Given the description of an element on the screen output the (x, y) to click on. 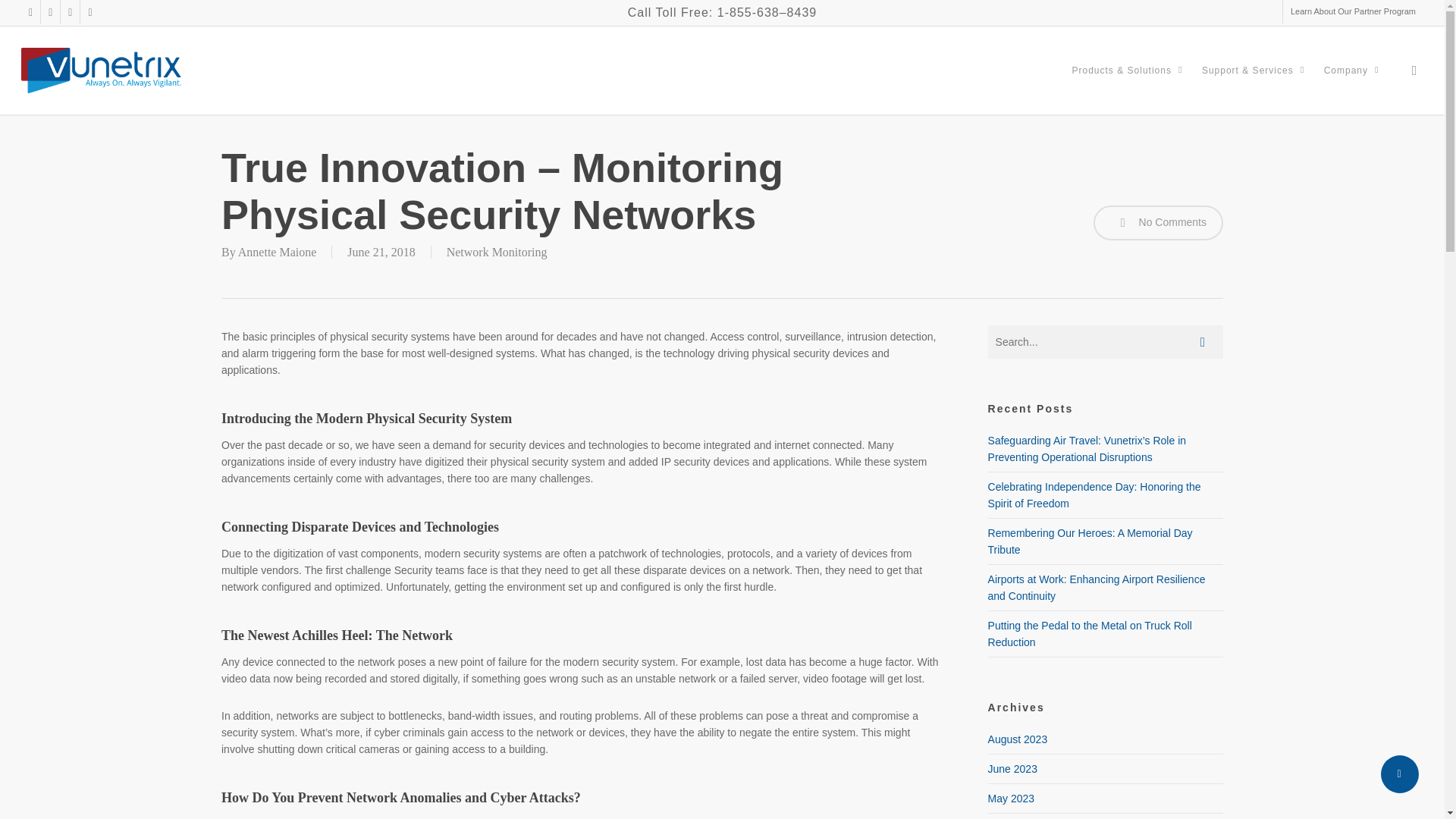
Posts by Annette Maione (277, 251)
Learn About Our Partner Program (1352, 11)
Search for: (1105, 341)
